Given the description of an element on the screen output the (x, y) to click on. 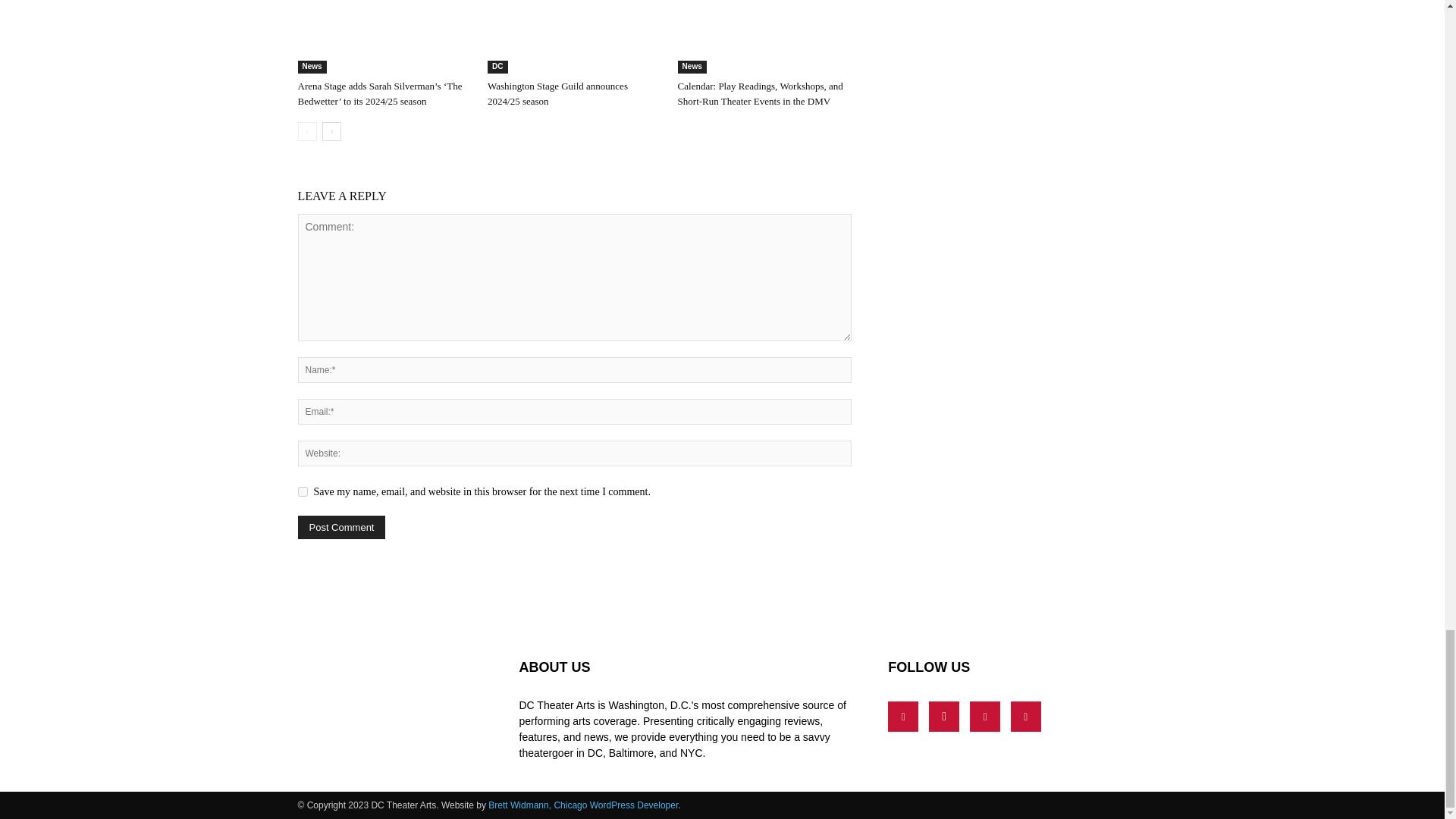
yes (302, 491)
Post Comment (341, 526)
